Given the description of an element on the screen output the (x, y) to click on. 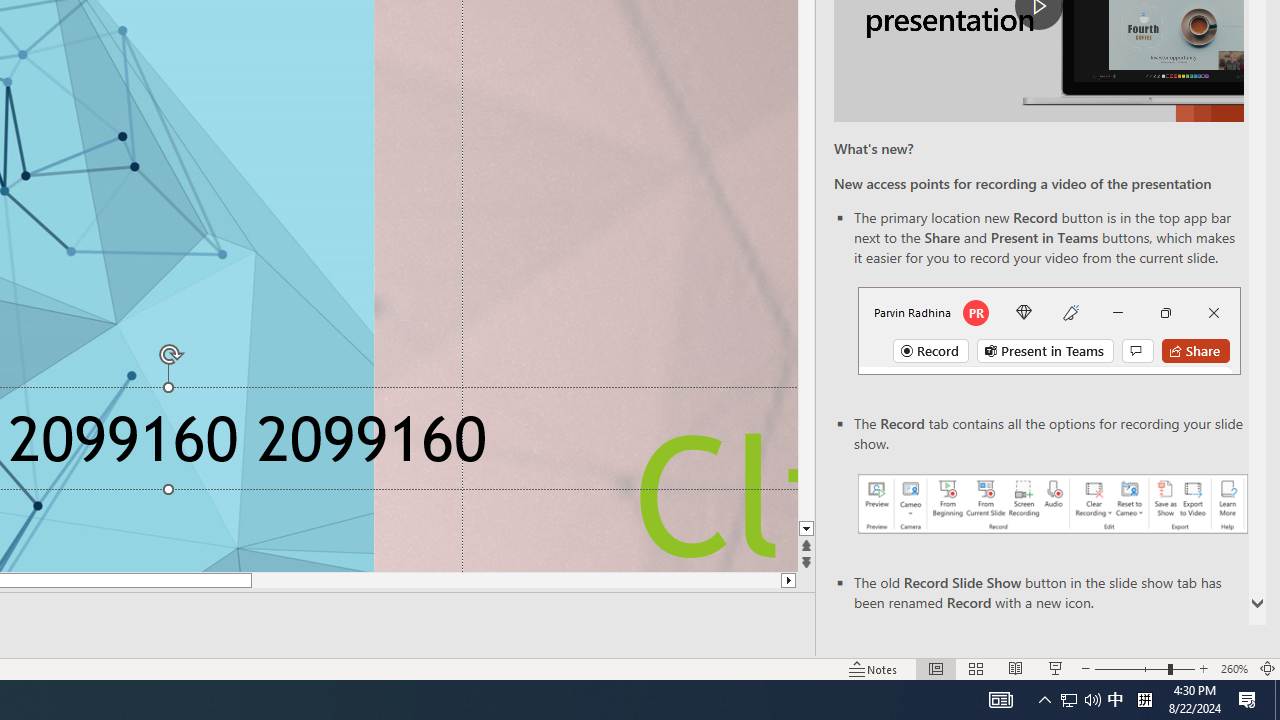
Record your presentations screenshot one (1052, 503)
